Given the description of an element on the screen output the (x, y) to click on. 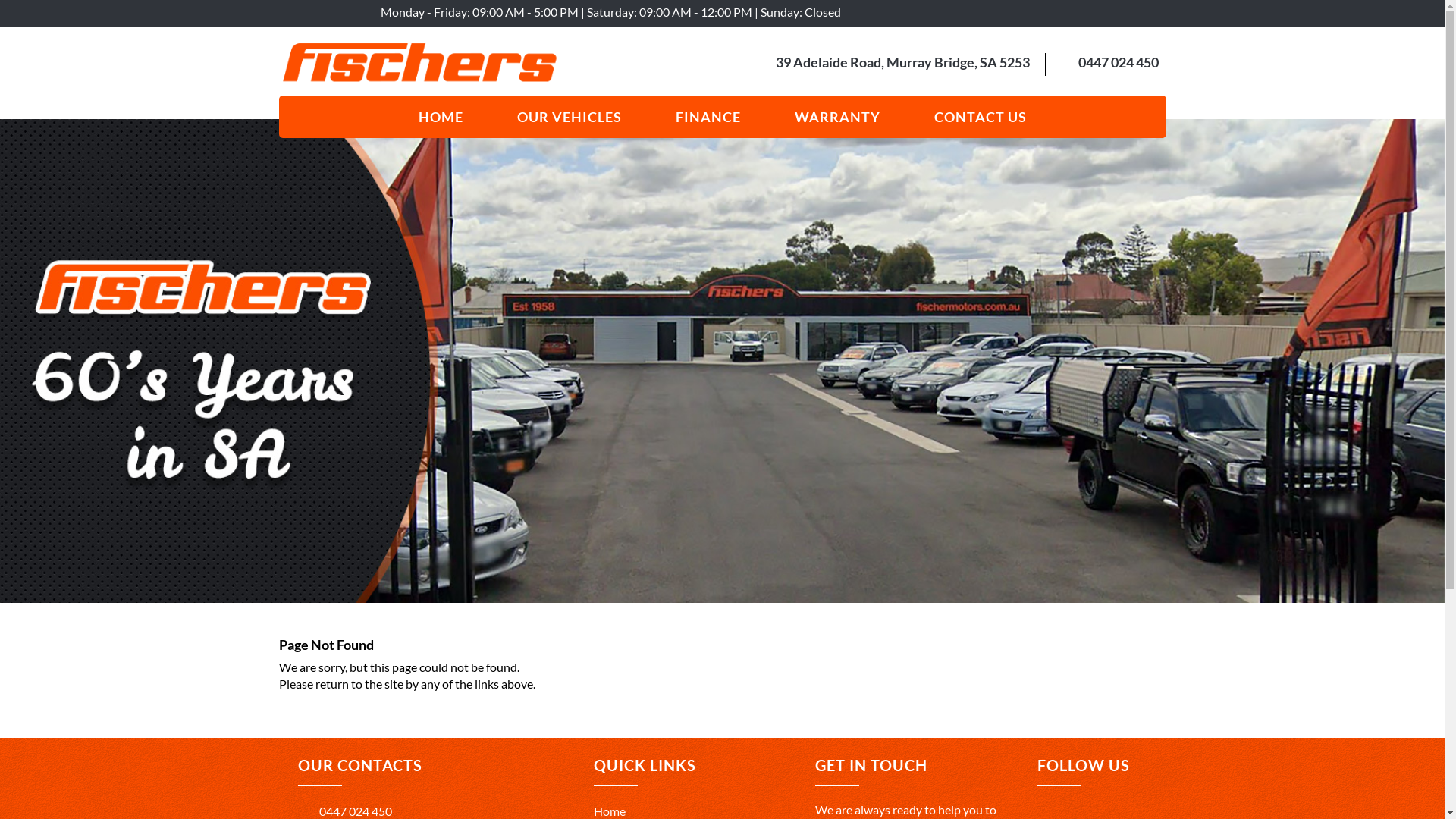
OUR VEHICLES Element type: text (569, 116)
0447 024 450 Element type: text (1118, 61)
WARRANTY Element type: text (837, 116)
Home Element type: text (608, 810)
FINANCE Element type: text (707, 116)
39 Adelaide Road, Murray Bridge, SA 5253 Element type: text (902, 61)
CONTACT US Element type: text (980, 116)
0447 024 450 Element type: text (344, 810)
HOME Element type: text (440, 116)
